Given the description of an element on the screen output the (x, y) to click on. 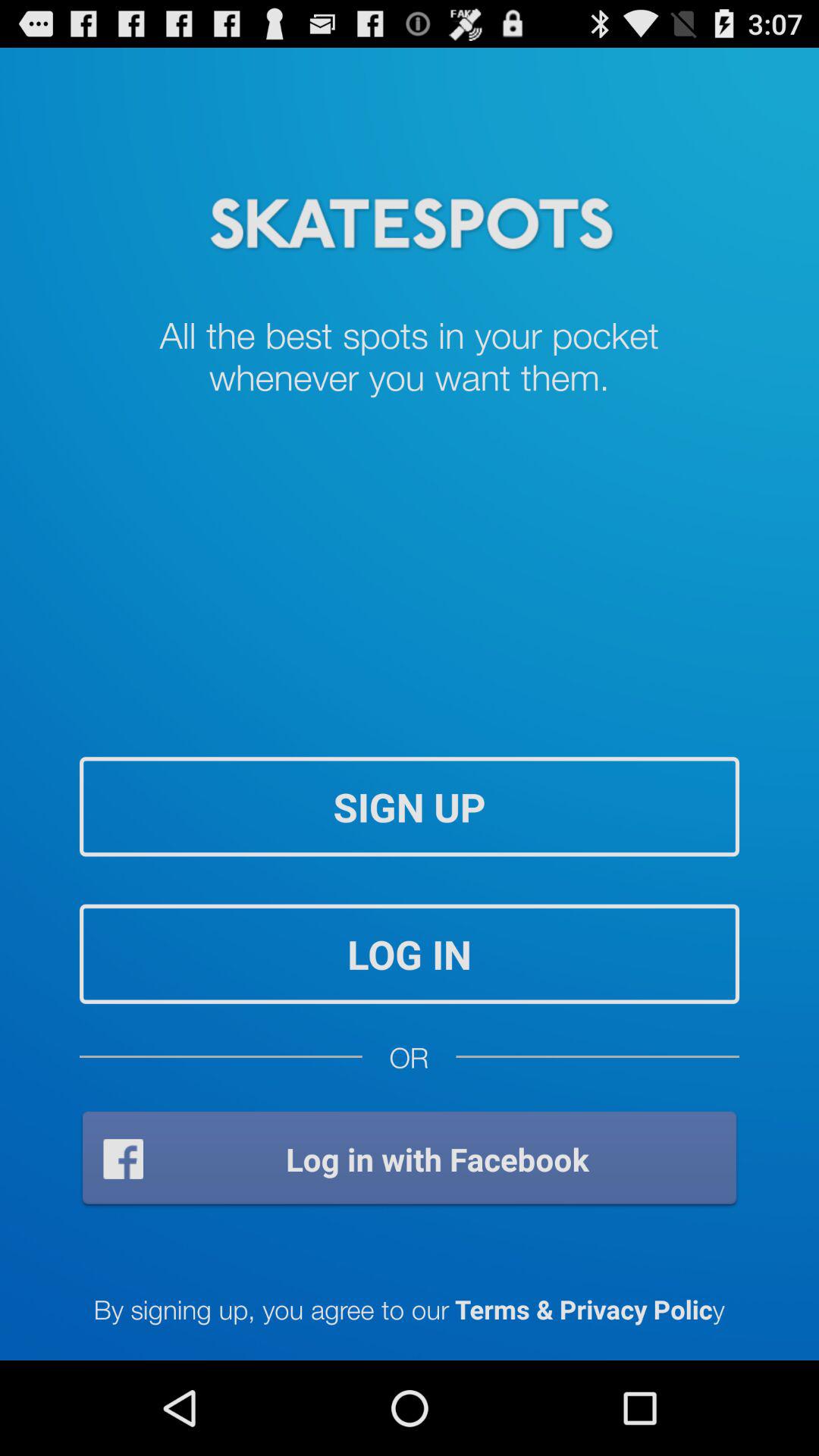
click by signing up (408, 1308)
